Given the description of an element on the screen output the (x, y) to click on. 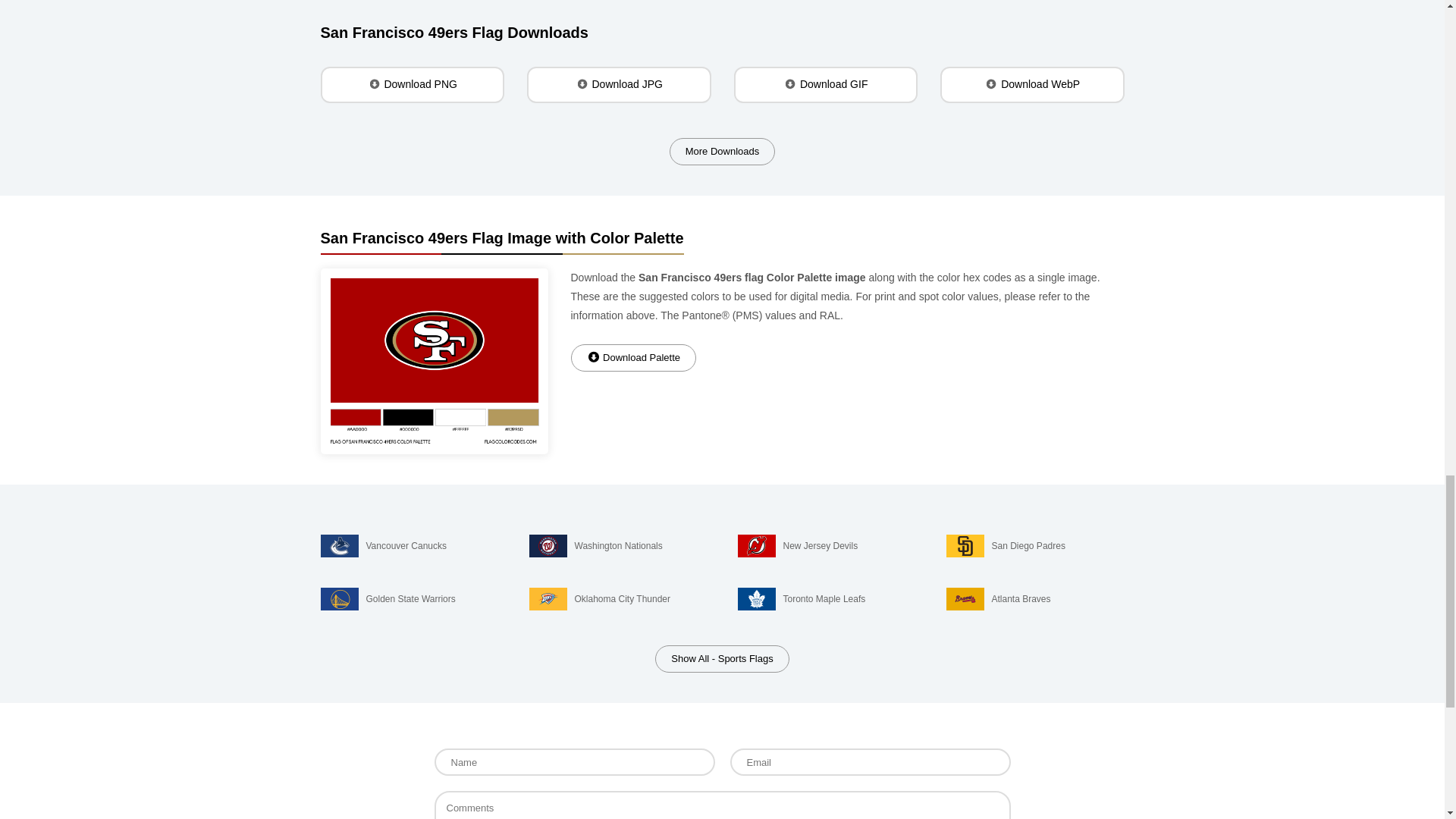
Download JPG (619, 84)
Download Palette (632, 357)
Washington Nationals (618, 545)
More Downloads (722, 151)
Download PNG (411, 84)
San Francisco 49ers Flag Color Palette (433, 361)
Show all Sports flags (722, 658)
Download WebP (1032, 84)
San Diego Padres (1035, 545)
New Jersey Devils (825, 545)
